Given the description of an element on the screen output the (x, y) to click on. 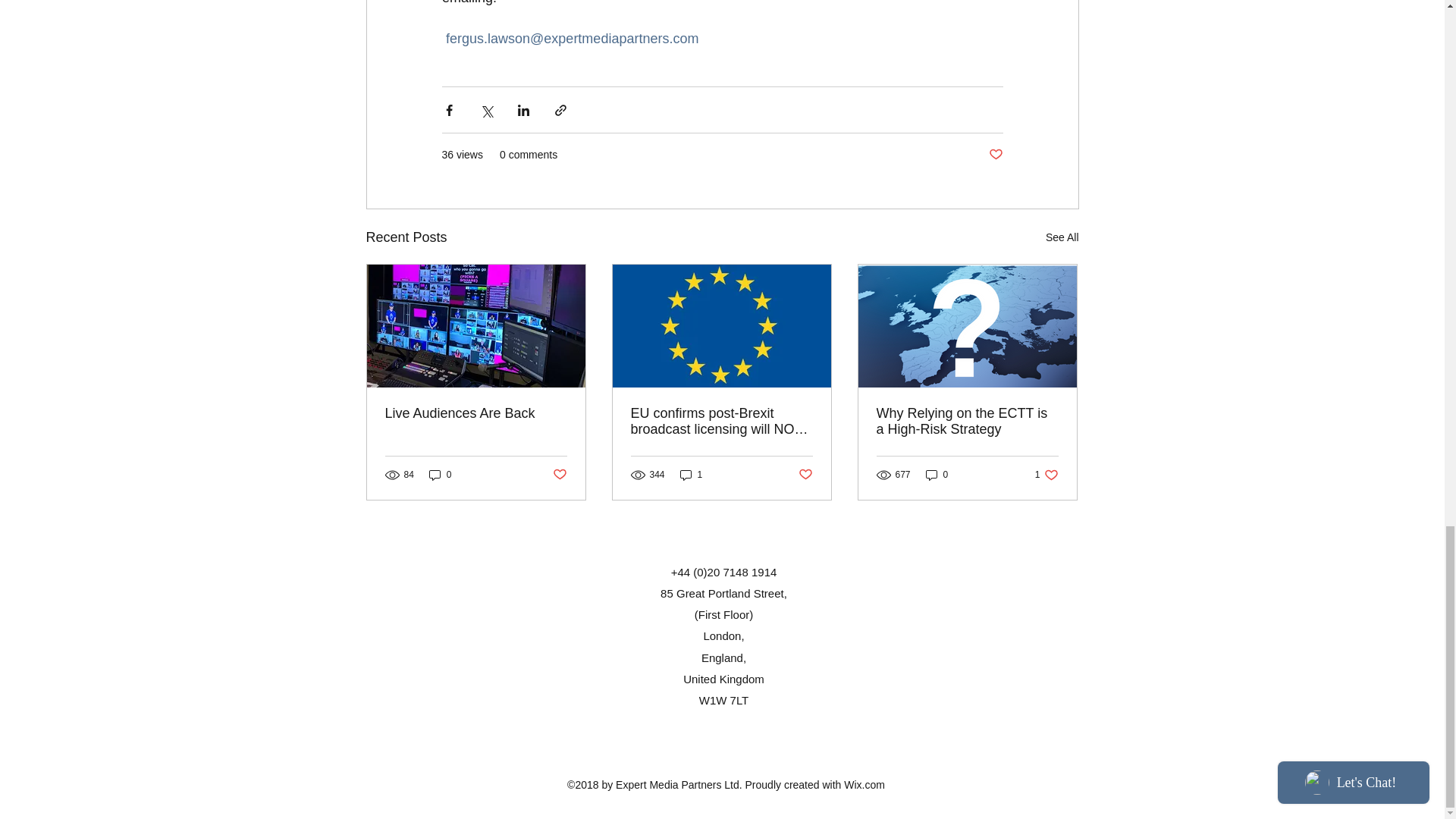
Post not marked as liked (558, 474)
1 (691, 474)
Why Relying on the ECTT is a High-Risk Strategy (1046, 474)
Post not marked as liked (967, 421)
Post not marked as liked (804, 474)
See All (995, 154)
Live Audiences Are Back (1061, 237)
0 (476, 413)
